Given the description of an element on the screen output the (x, y) to click on. 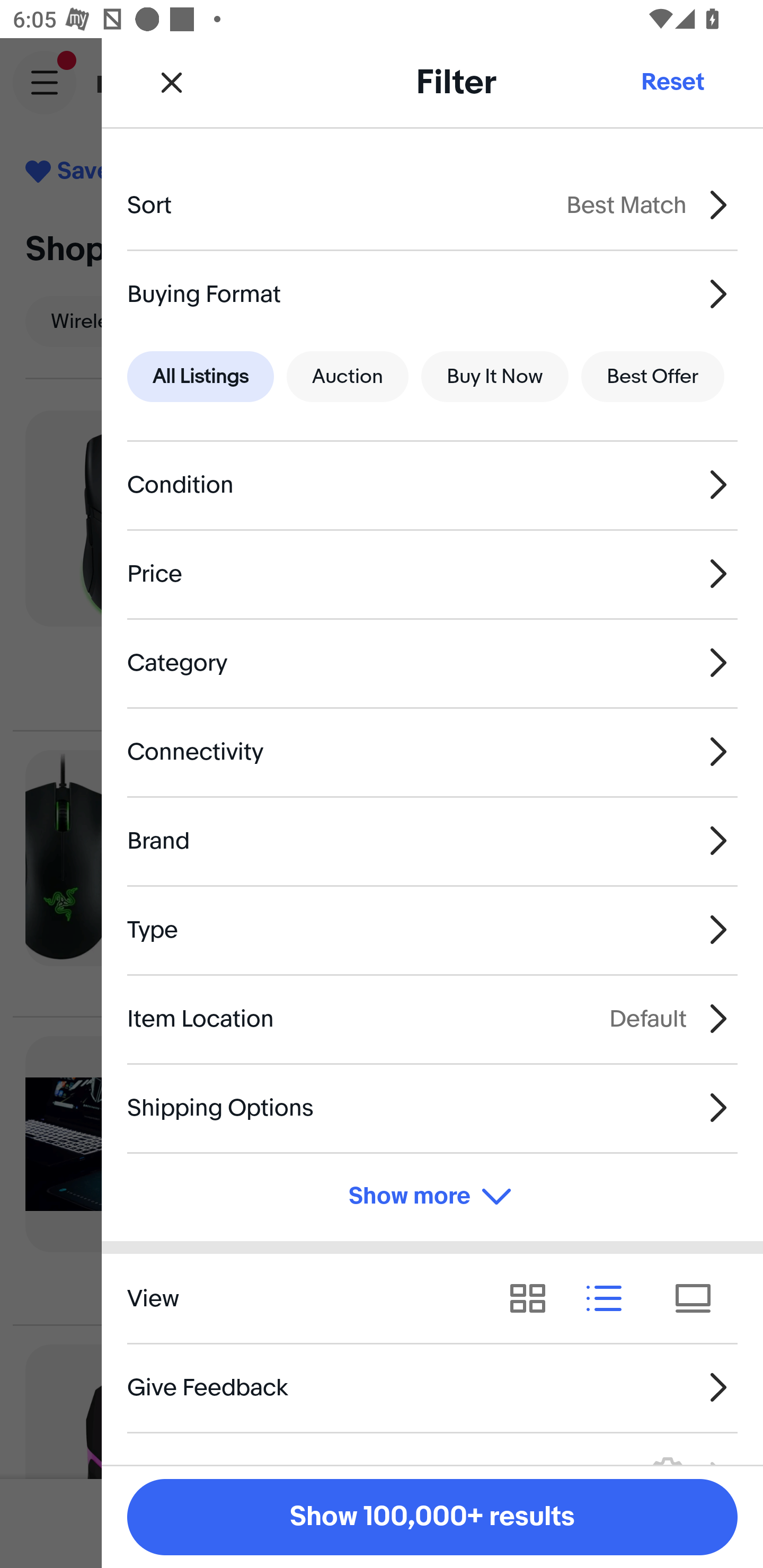
Close Filter (171, 81)
Reset (672, 81)
Buying Format (432, 293)
All Listings (200, 376)
Auction (347, 376)
Buy It Now (494, 376)
Best Offer (652, 376)
Condition (432, 484)
Price (432, 573)
Category (432, 662)
Connectivity (432, 751)
Brand (432, 840)
Type (432, 929)
Item Location Default (432, 1018)
Shipping Options (432, 1107)
Show more (432, 1196)
View results as grid (533, 1297)
View results as list (610, 1297)
View results as tiles (699, 1297)
Show 100,000+ results (432, 1516)
